Given the description of an element on the screen output the (x, y) to click on. 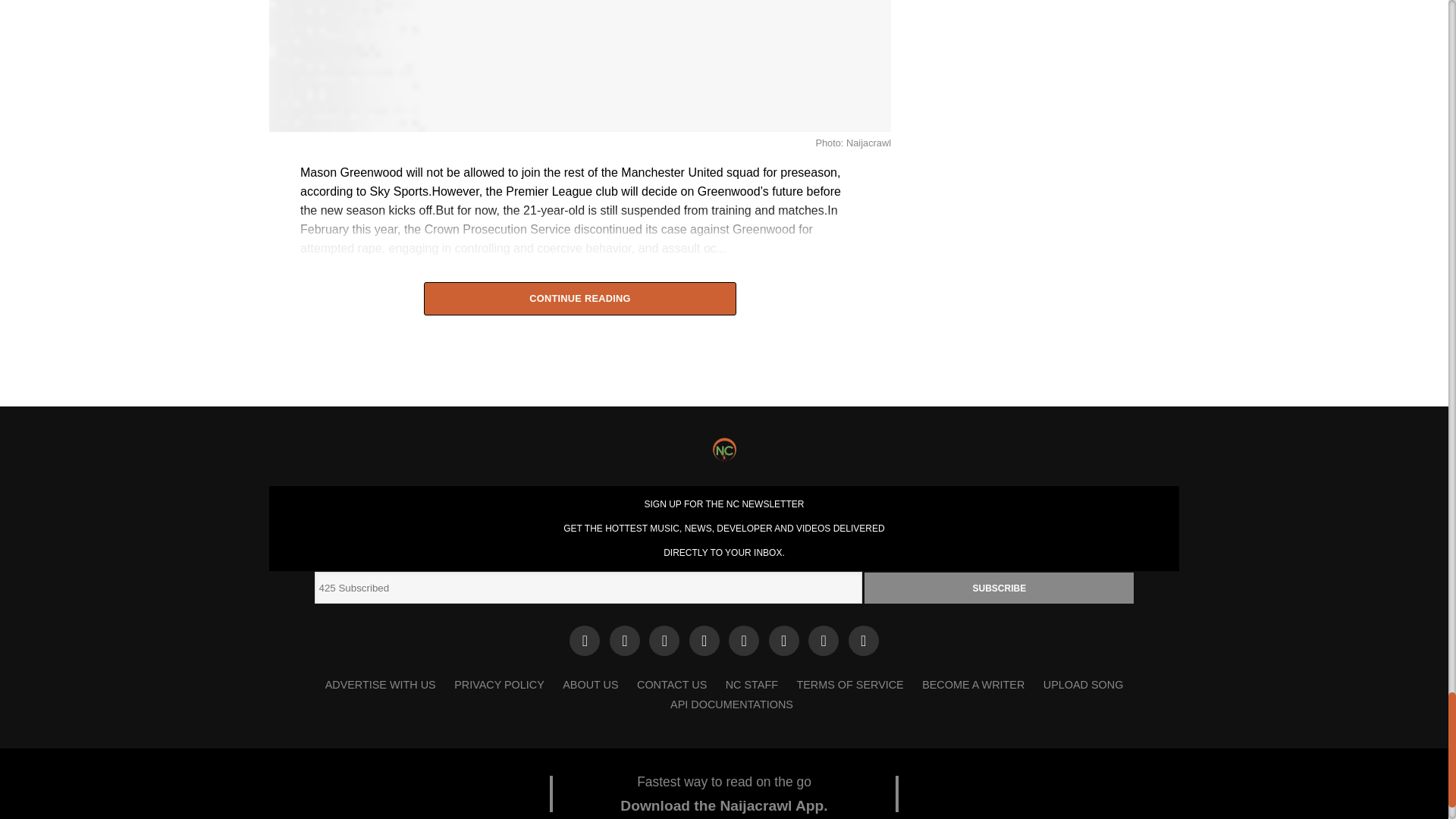
Subscribe (999, 587)
